Given the description of an element on the screen output the (x, y) to click on. 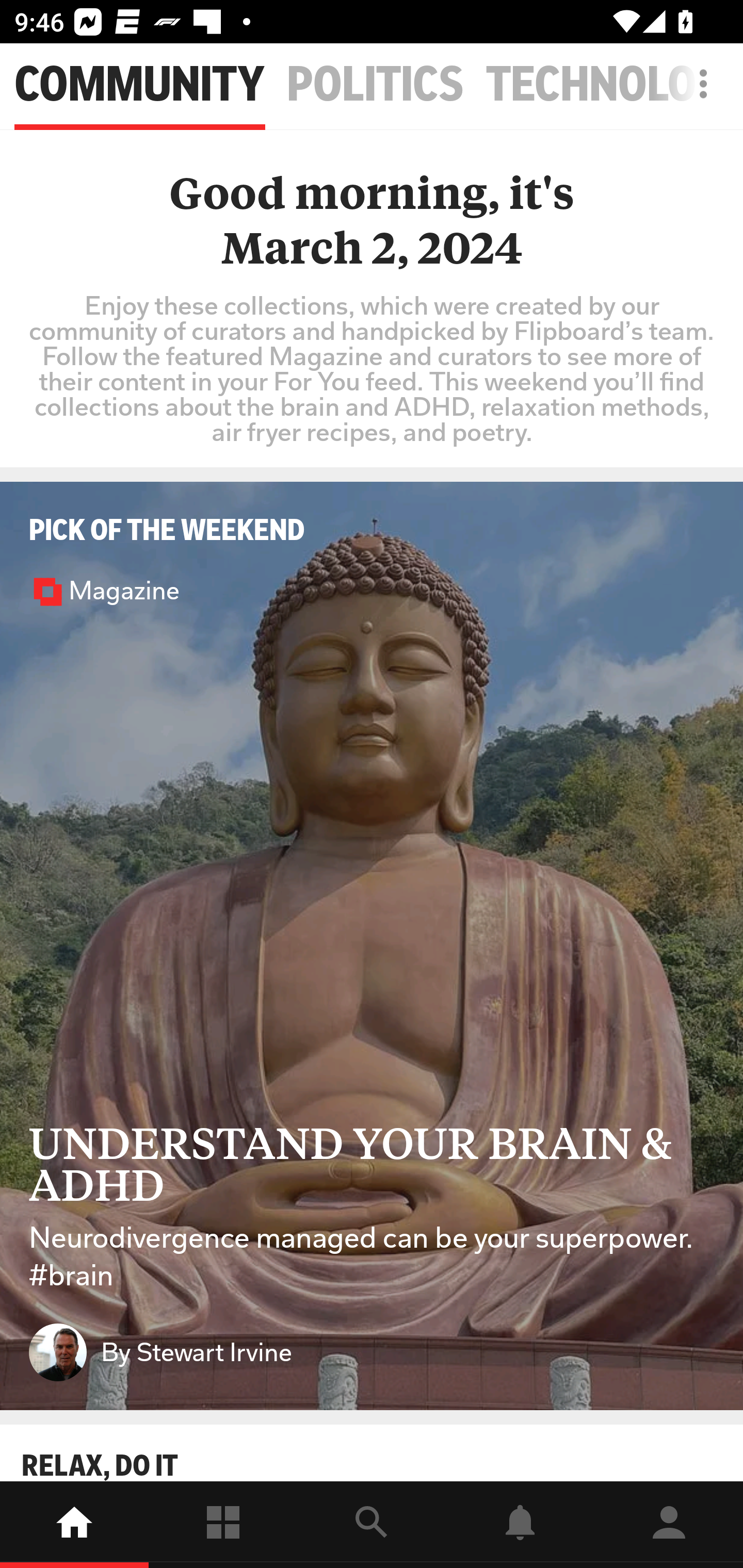
COMMUNITY (139, 84)
POLITICS (375, 84)
TECHNOLOGY (614, 84)
Edit Home (697, 83)
home (74, 1524)
Following (222, 1524)
explore (371, 1524)
Notifications (519, 1524)
Profile (668, 1524)
